Given the description of an element on the screen output the (x, y) to click on. 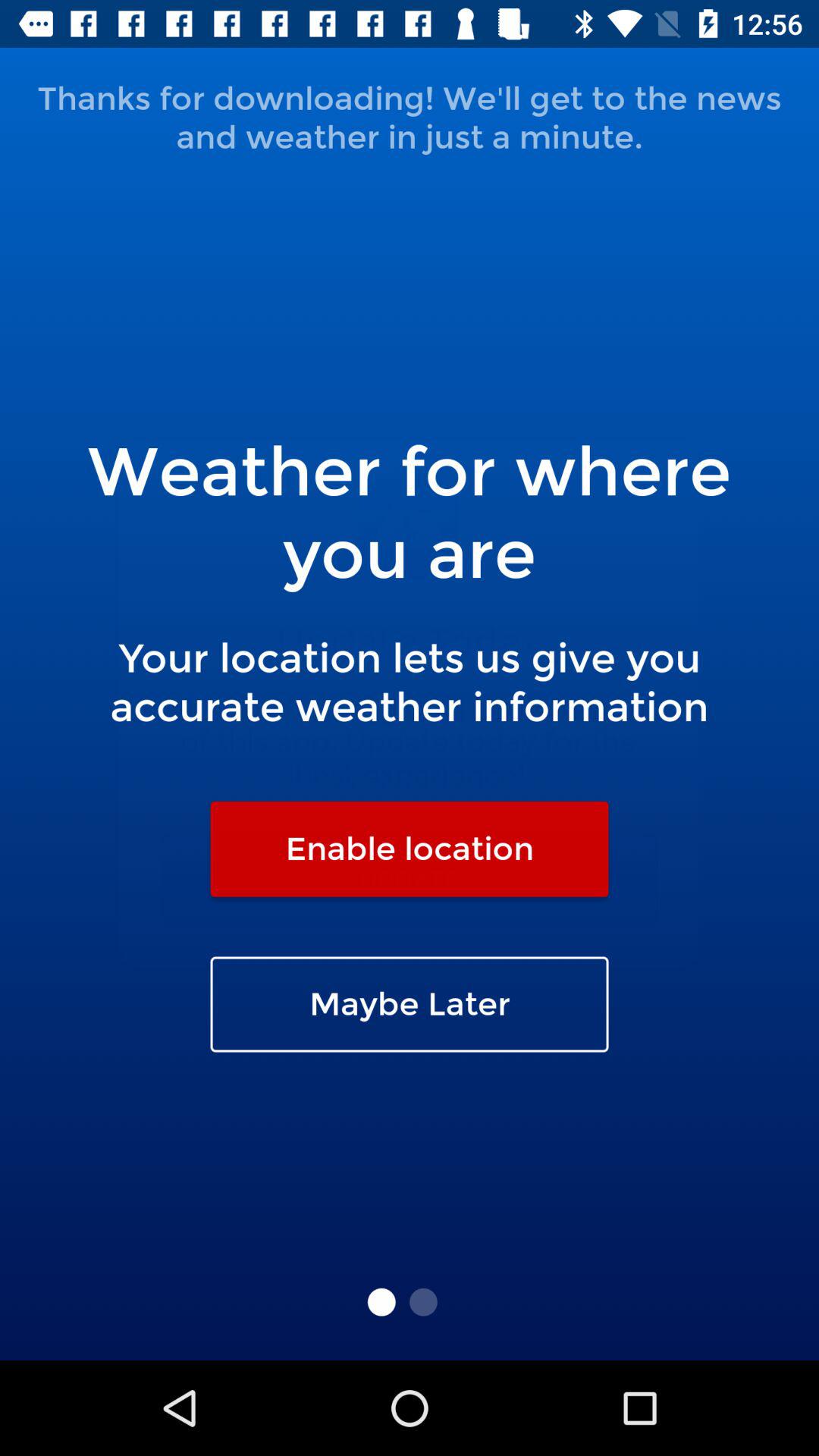
turn off the icon above the maybe later icon (409, 848)
